Given the description of an element on the screen output the (x, y) to click on. 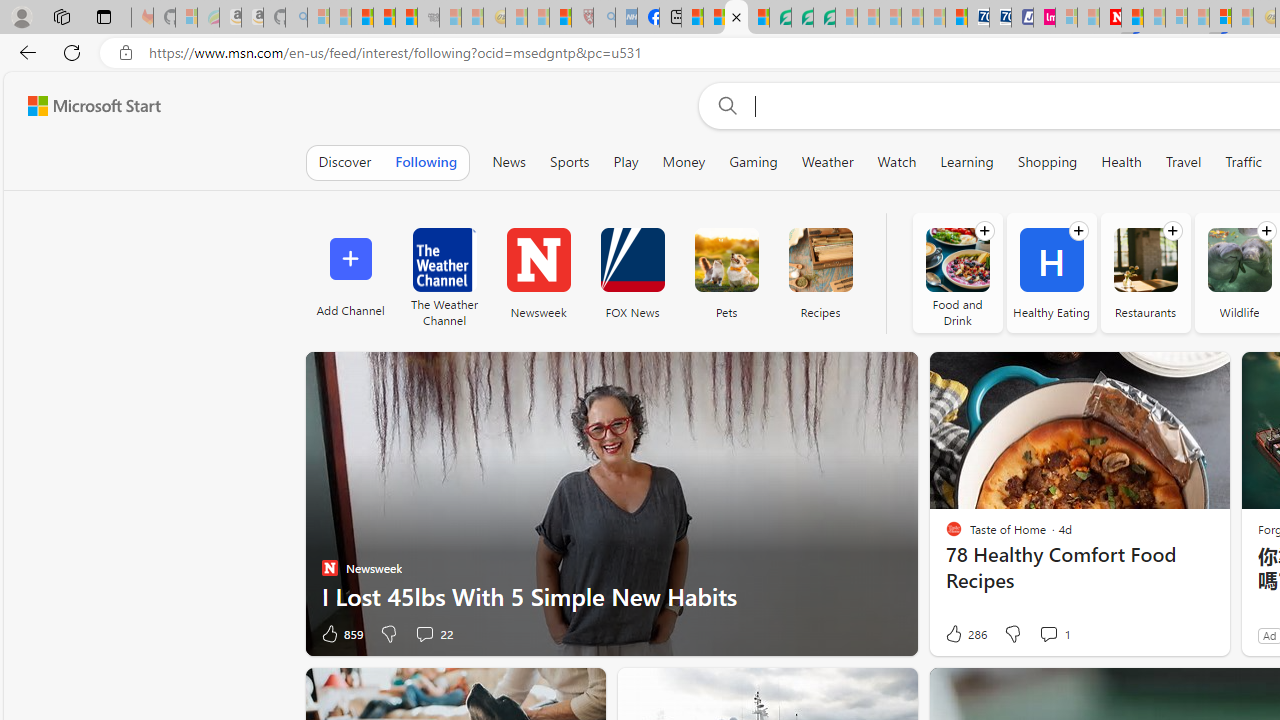
Healthy Eating (1051, 272)
Pets (725, 272)
View comments 22 Comment (432, 633)
Wildlife (1239, 260)
